Given the description of an element on the screen output the (x, y) to click on. 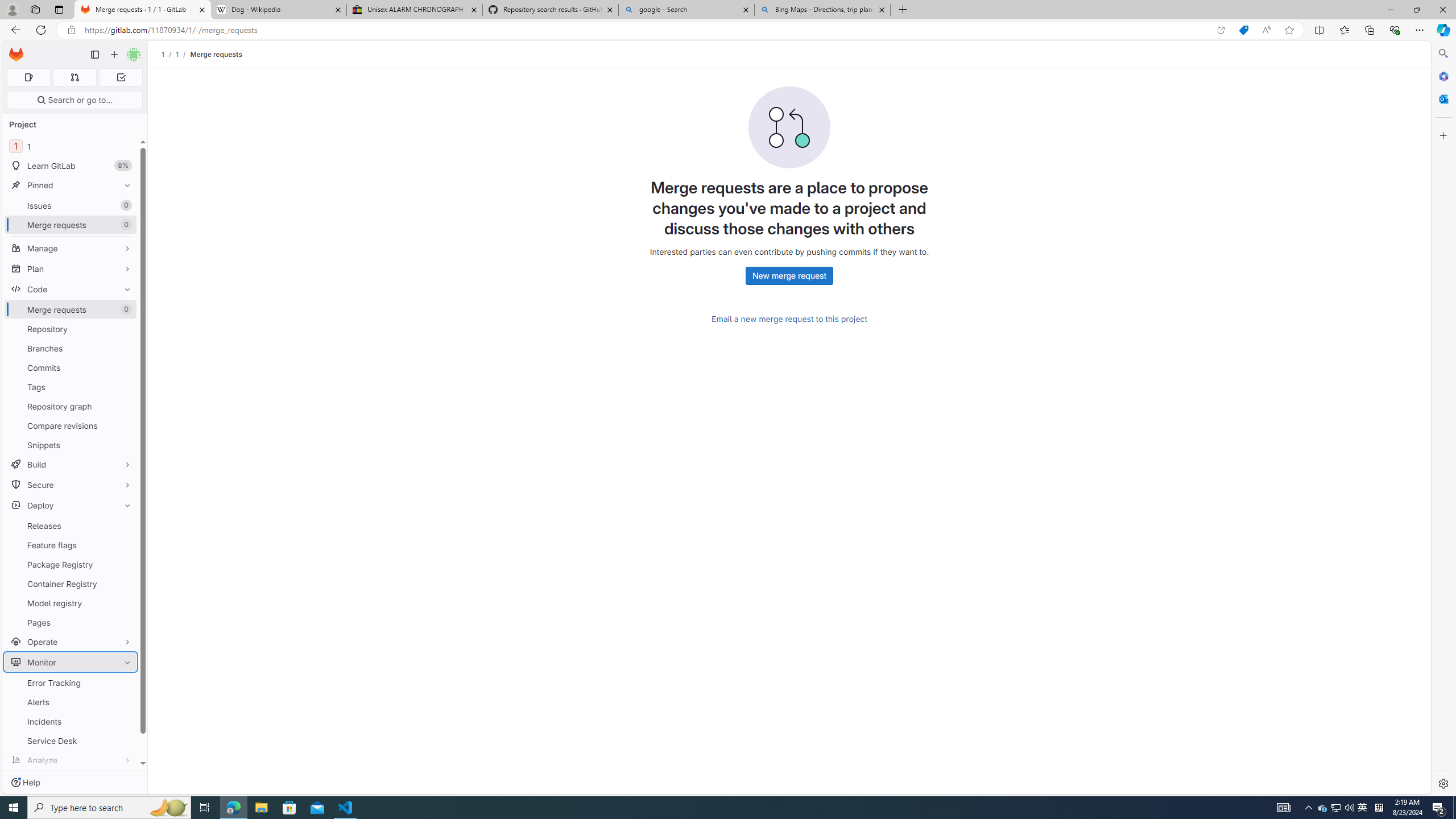
Open in app (1220, 29)
Pages (70, 622)
Merge requests (215, 53)
Build (70, 464)
Container Registry (70, 583)
Learn GitLab8% (70, 165)
Releases (70, 525)
Merge requests (215, 53)
